Given the description of an element on the screen output the (x, y) to click on. 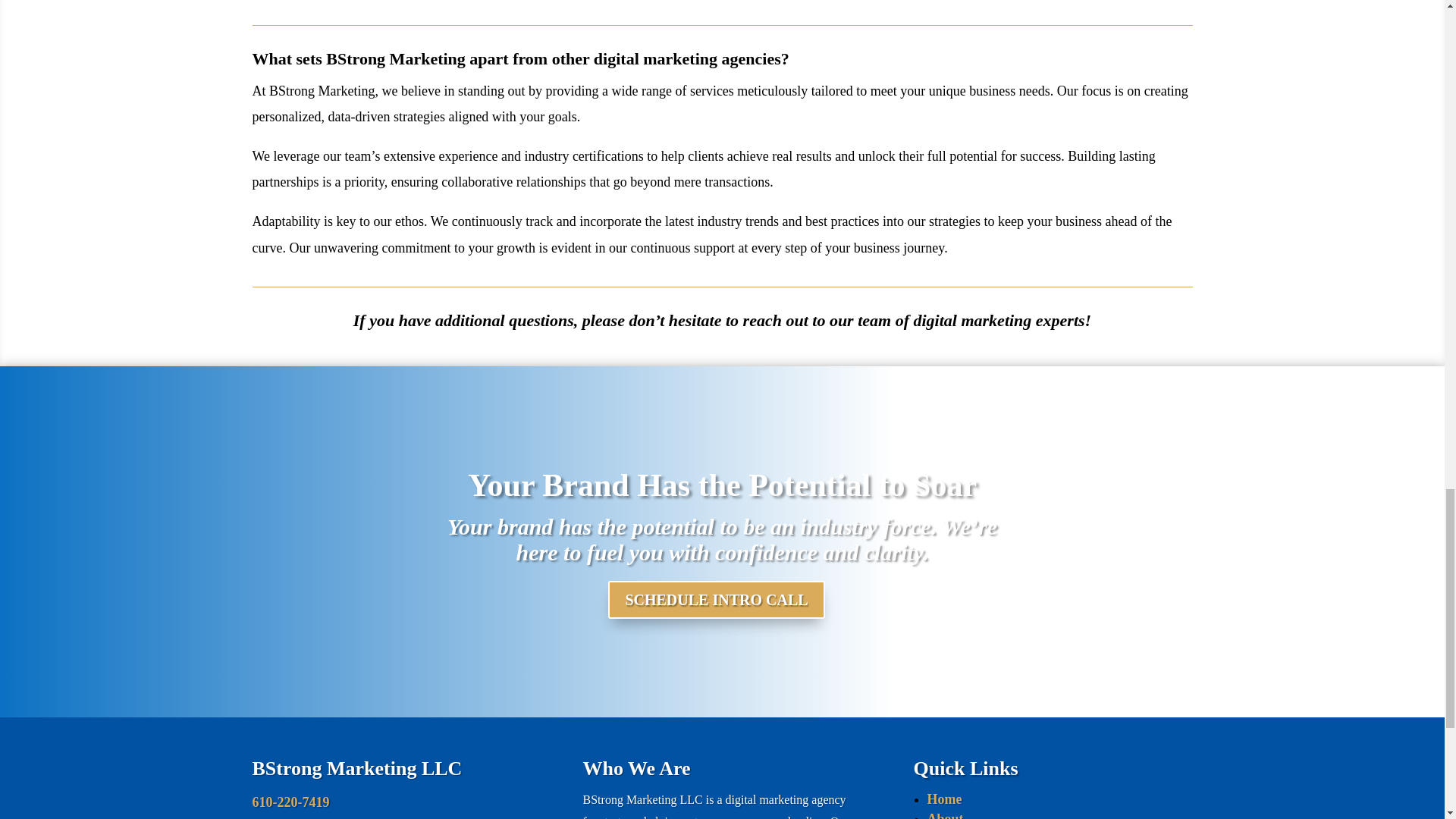
610-220-7419 (290, 801)
reach out (775, 320)
SCHEDULE INTRO CALL (716, 599)
